Given the description of an element on the screen output the (x, y) to click on. 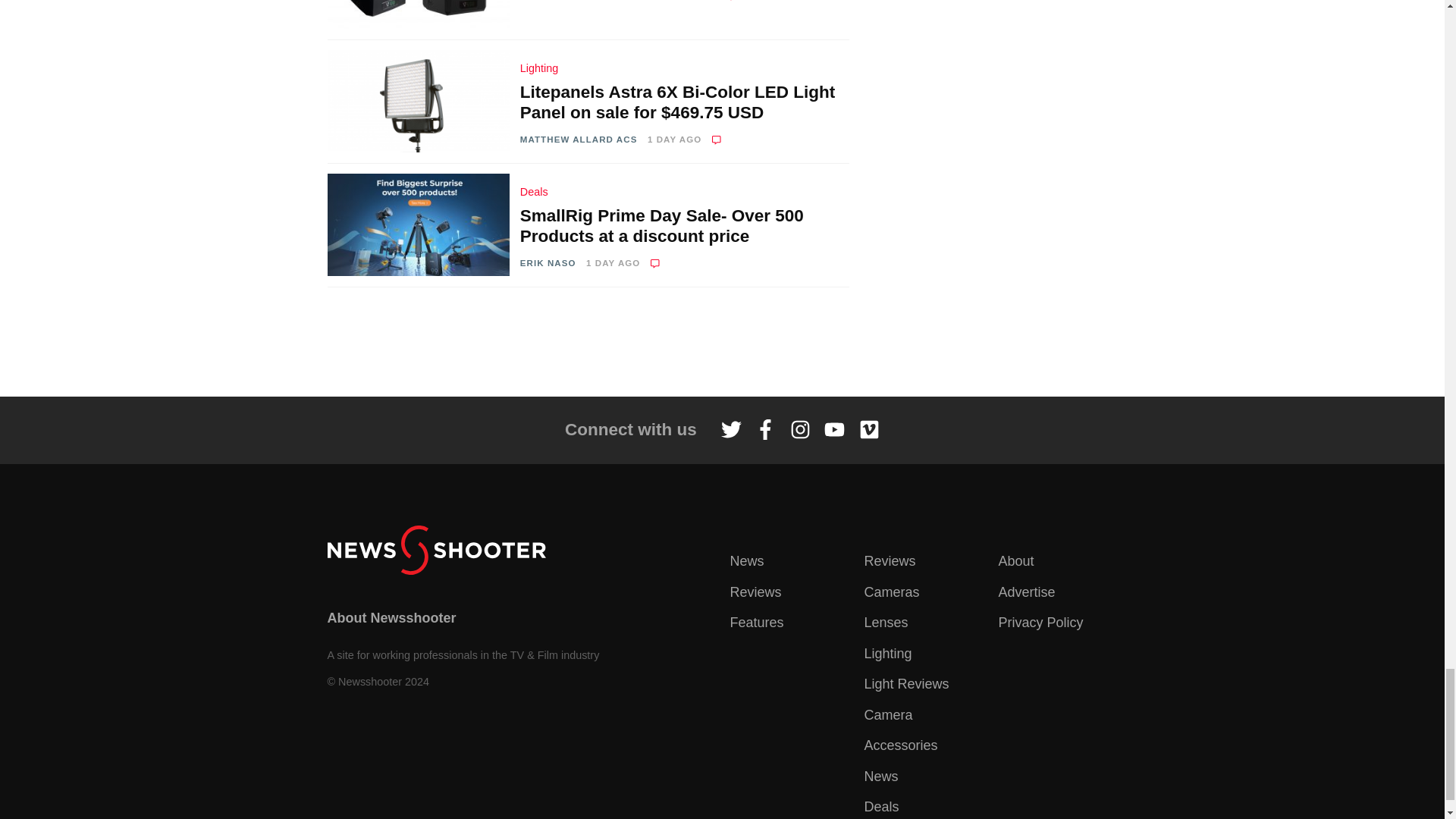
3rd party ad content (721, 341)
